Given the description of an element on the screen output the (x, y) to click on. 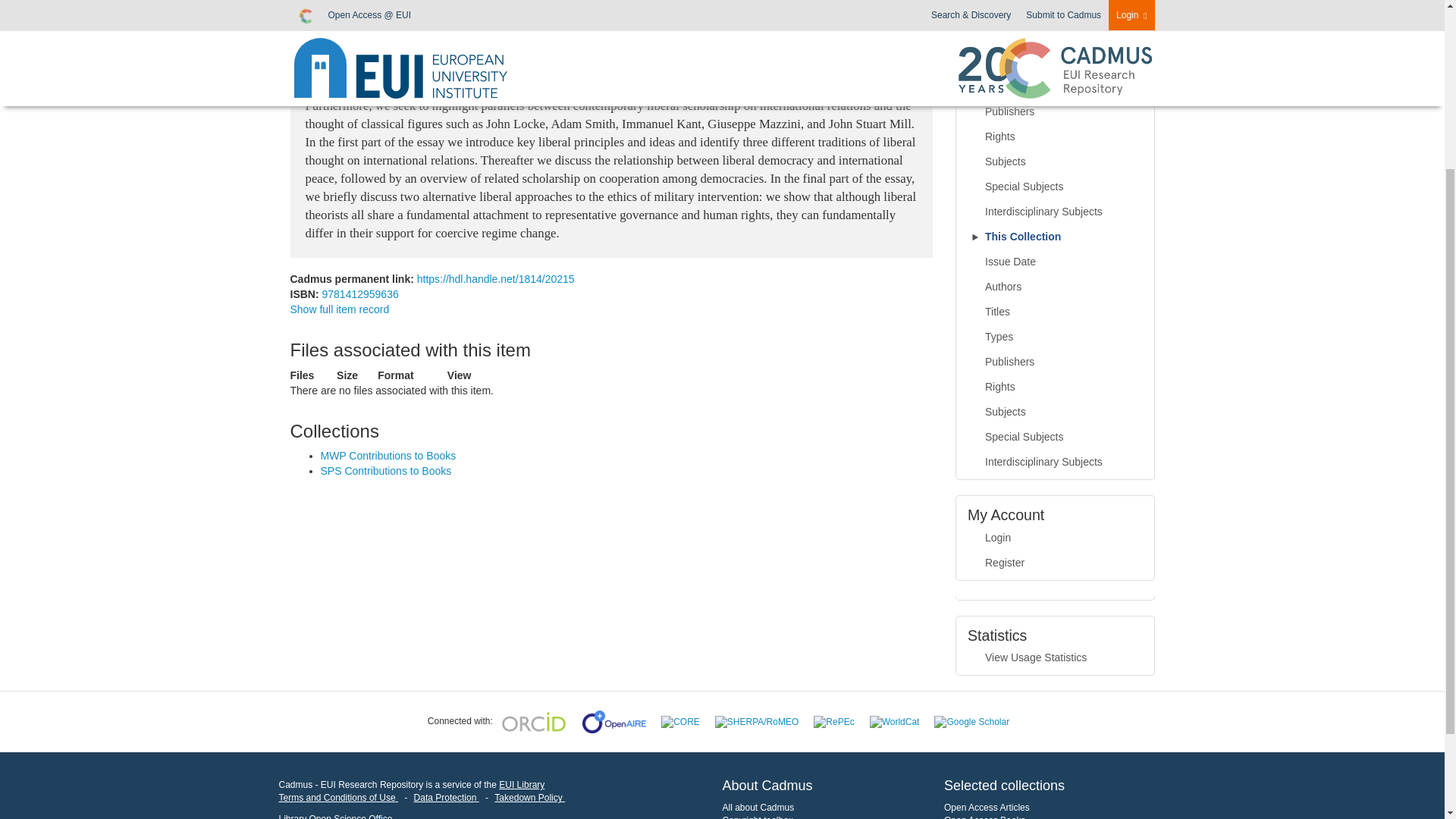
Go to Disclaimer (338, 797)
Interdisciplinary Subjects (1055, 212)
Publishers (1055, 112)
Disclaimer and Takedowm Policy (529, 797)
9781412959636 (359, 294)
Issue Date (1055, 12)
Show full item record (338, 309)
Authors (1055, 36)
Subjects (1055, 162)
Rights (1055, 136)
